Given the description of an element on the screen output the (x, y) to click on. 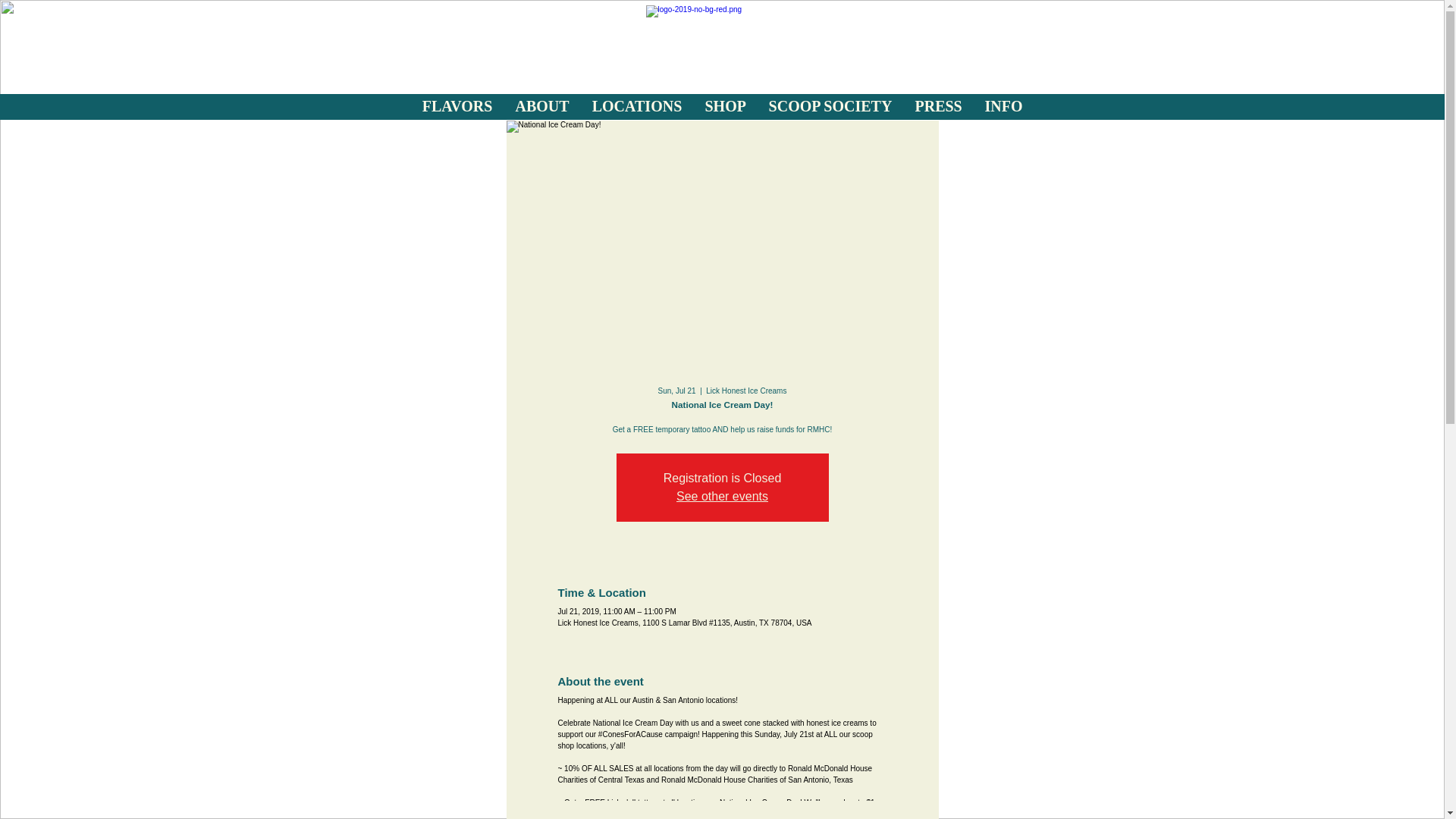
See other events (722, 495)
PRESS (939, 106)
SCOOP SOCIETY (829, 106)
